Given the description of an element on the screen output the (x, y) to click on. 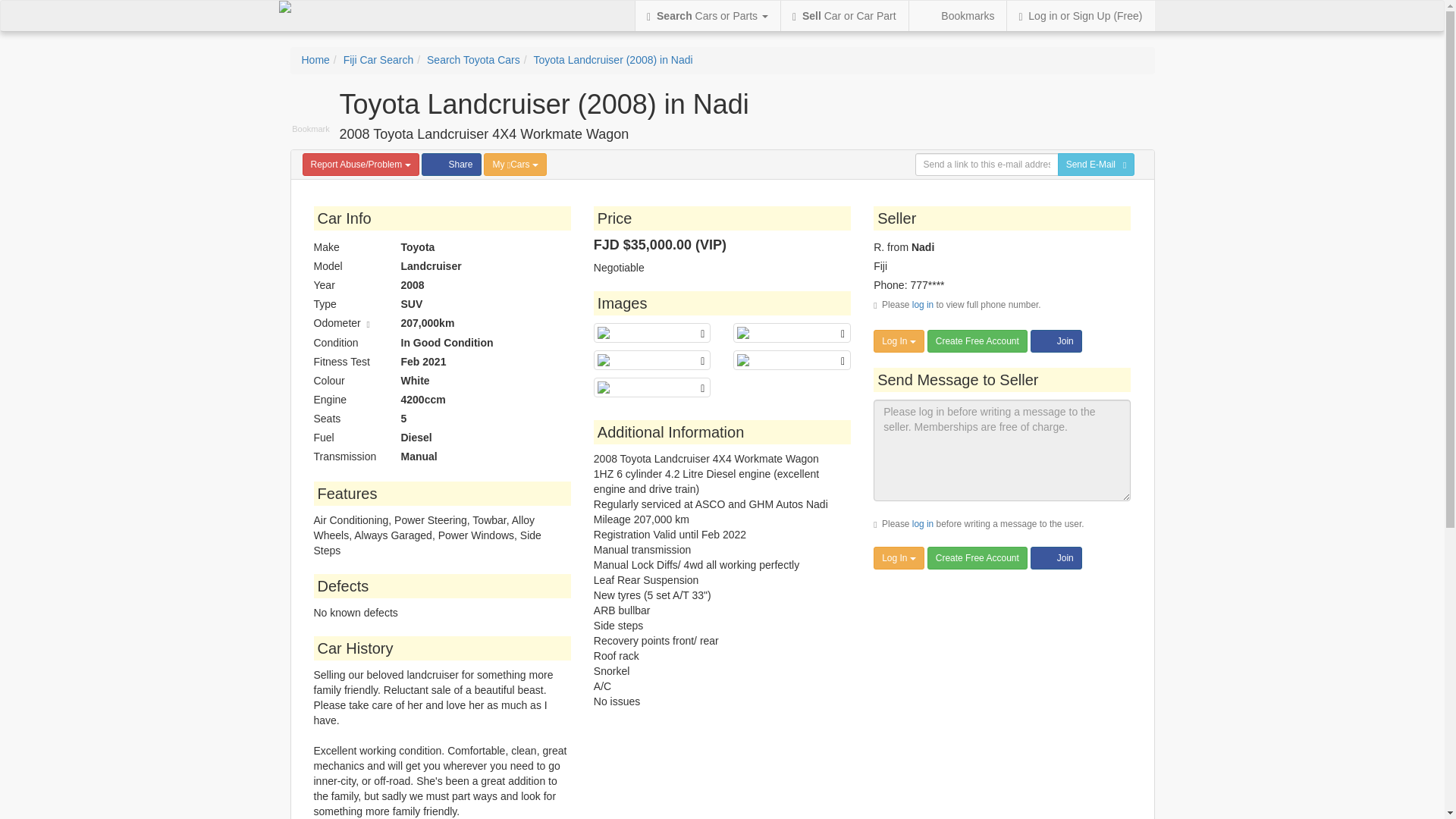
Search Toyota Cars (472, 60)
Find your bookmarks here (957, 15)
My Cars  (514, 164)
Fiji Car Search (378, 60)
Share (451, 164)
  Search Cars or Parts  (706, 15)
  Bookmarks (957, 15)
Send E-Mail   (1096, 164)
Home (315, 60)
  Sell Car or Car Part (843, 15)
